Given the description of an element on the screen output the (x, y) to click on. 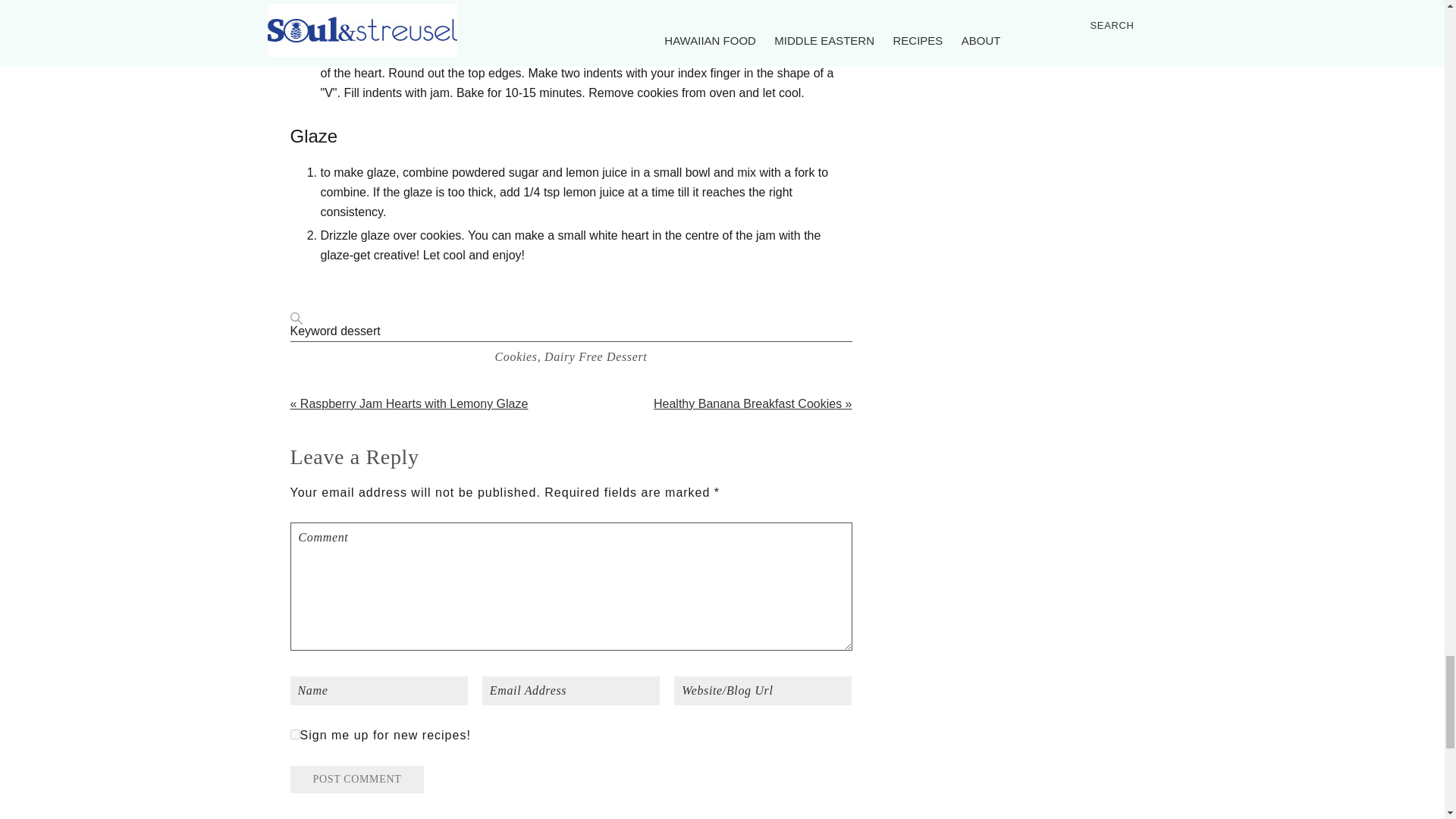
Post Comment (356, 779)
Dairy Free Dessert (595, 356)
1 (294, 734)
Cookies (516, 356)
